Given the description of an element on the screen output the (x, y) to click on. 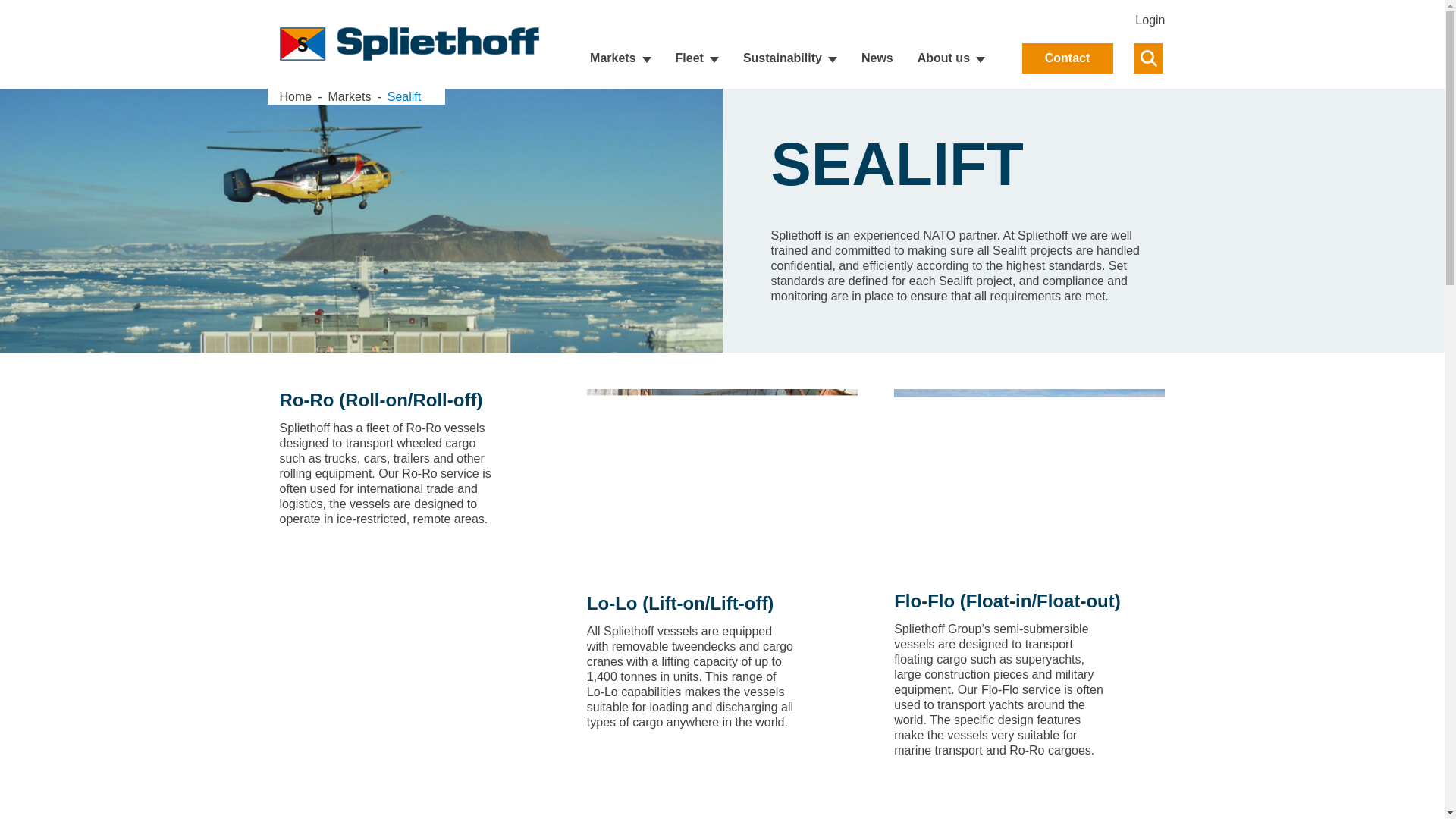
News (877, 57)
Fleet (697, 57)
Markets (362, 96)
Home (295, 96)
Home (307, 96)
Sustainability (789, 57)
Sustainability (789, 57)
Home (295, 96)
Markets (619, 57)
Login (1149, 19)
News (877, 57)
Markets (350, 96)
Home (408, 43)
Markets (619, 57)
Contact (1067, 57)
